Given the description of an element on the screen output the (x, y) to click on. 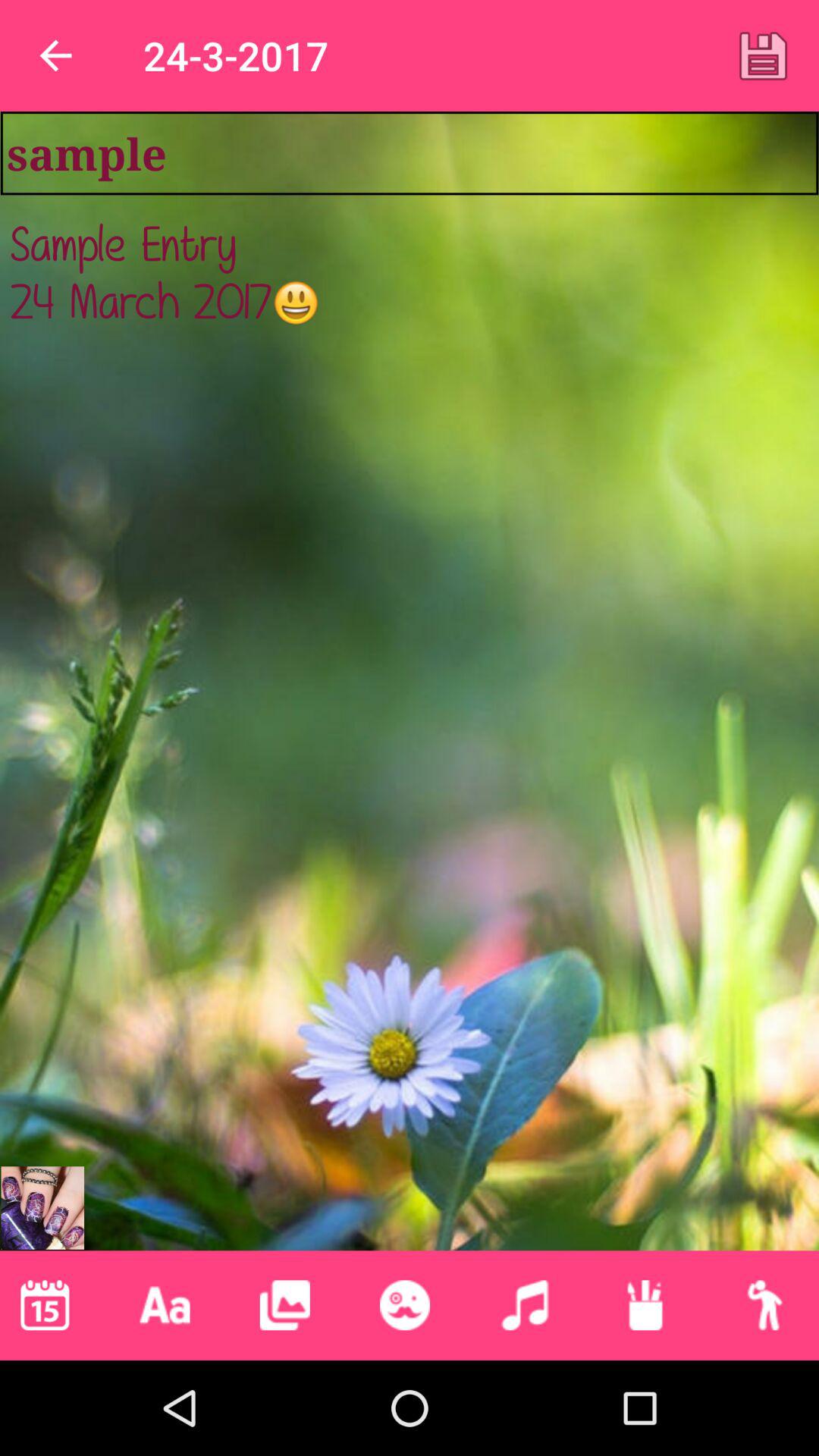
jump until the sample entry 24 (409, 689)
